Given the description of an element on the screen output the (x, y) to click on. 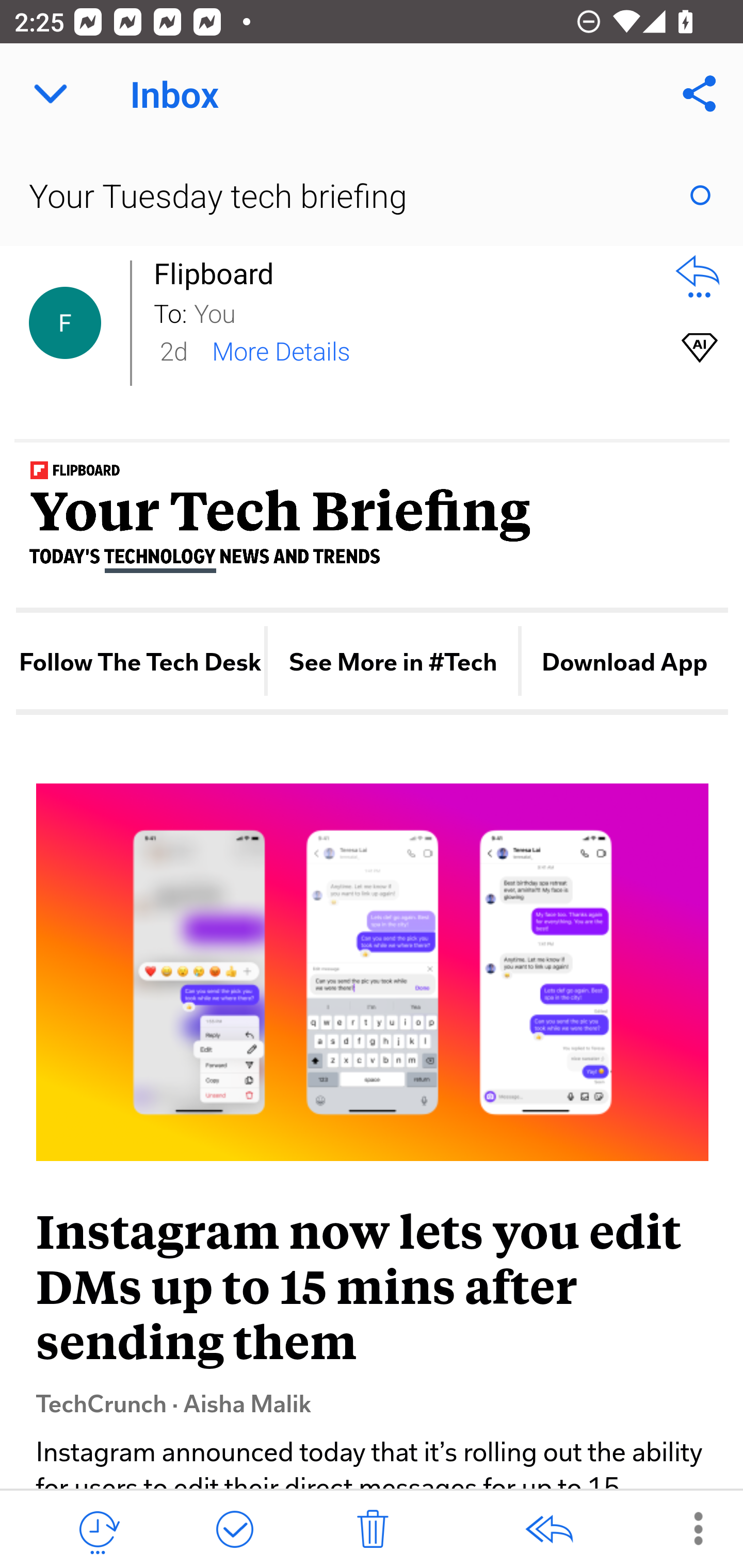
Navigate up (50, 93)
Share (699, 93)
Mark as Read (699, 194)
Flipboard (219, 273)
Contact Details (64, 322)
You (422, 311)
More Details (280, 349)
Follow The Tech Desk Follow  The Tech Desk (139, 662)
See More in #Tech (392, 662)
Download App (625, 662)
More Options (687, 1528)
Snooze (97, 1529)
Mark as Done (234, 1529)
Delete (372, 1529)
Reply All (548, 1529)
